Given the description of an element on the screen output the (x, y) to click on. 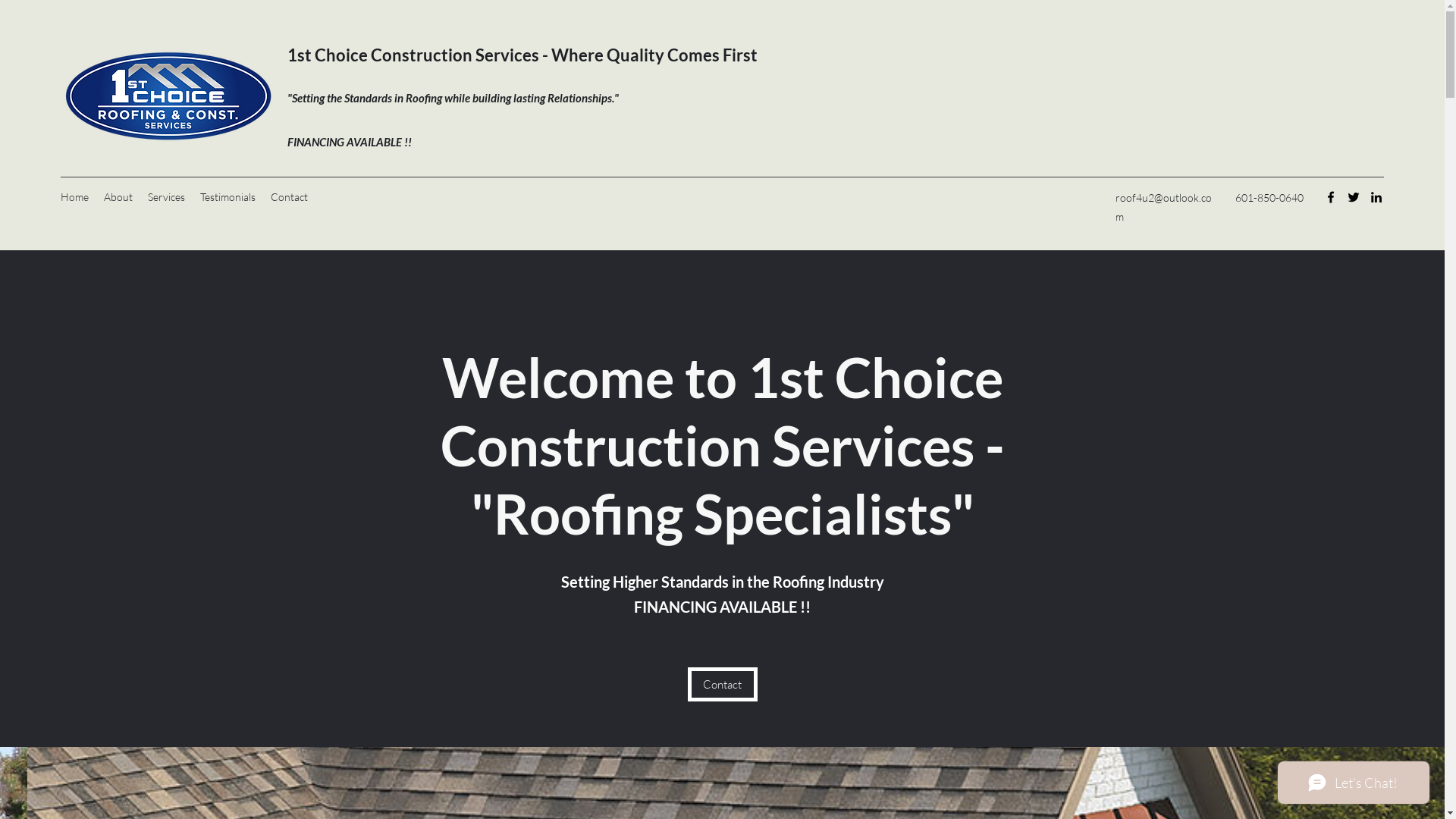
Contact Element type: text (721, 684)
Contact Element type: text (289, 196)
Testimonials Element type: text (227, 196)
1st Choice Construction Services - Where Quality Comes First Element type: text (522, 54)
Home Element type: text (74, 196)
Services Element type: text (166, 196)
About Element type: text (118, 196)
roof4u2@outlook.com Element type: text (1163, 206)
